Given the description of an element on the screen output the (x, y) to click on. 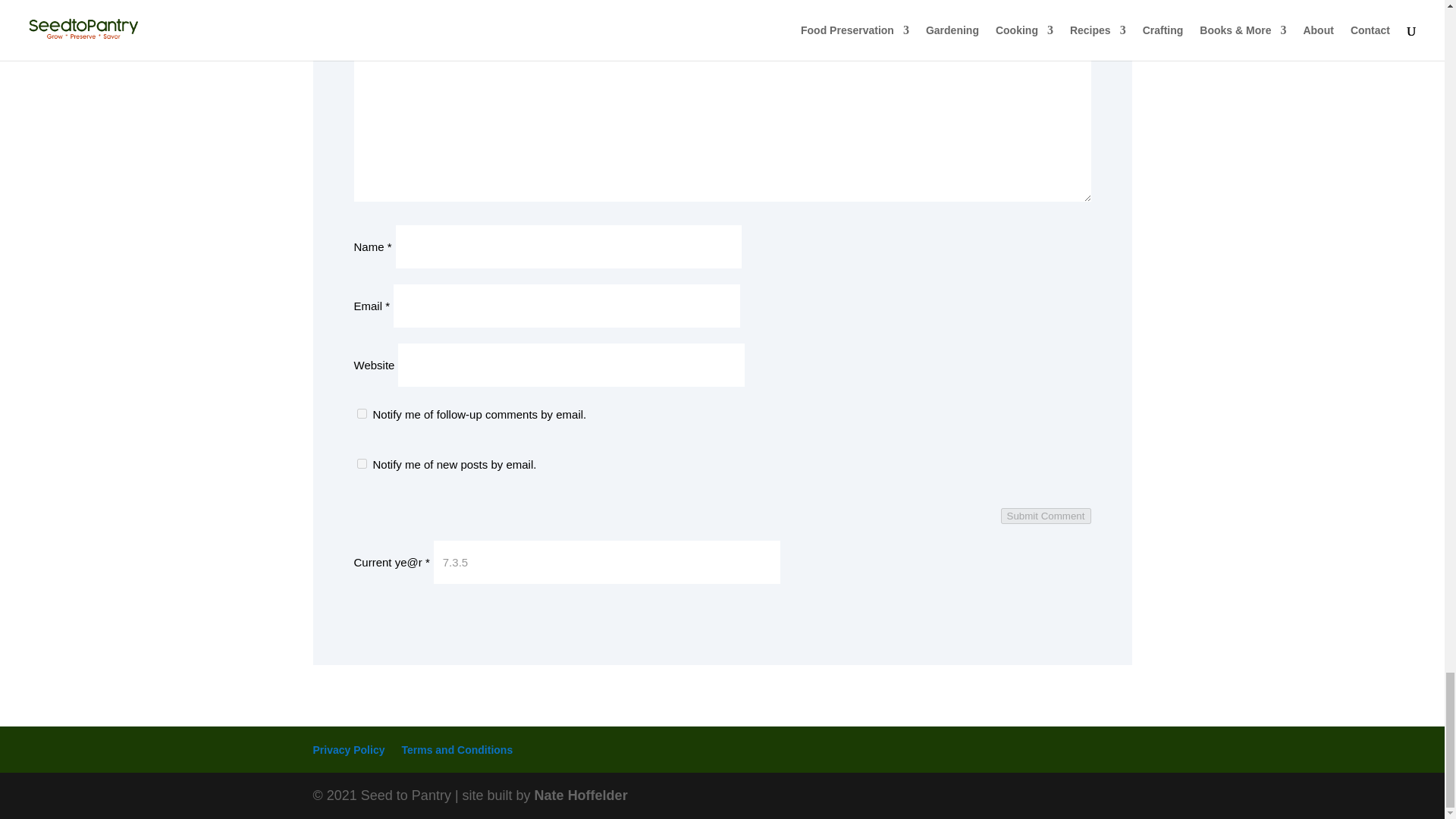
subscribe (361, 413)
7.3.5 (606, 561)
subscribe (361, 463)
